Given the description of an element on the screen output the (x, y) to click on. 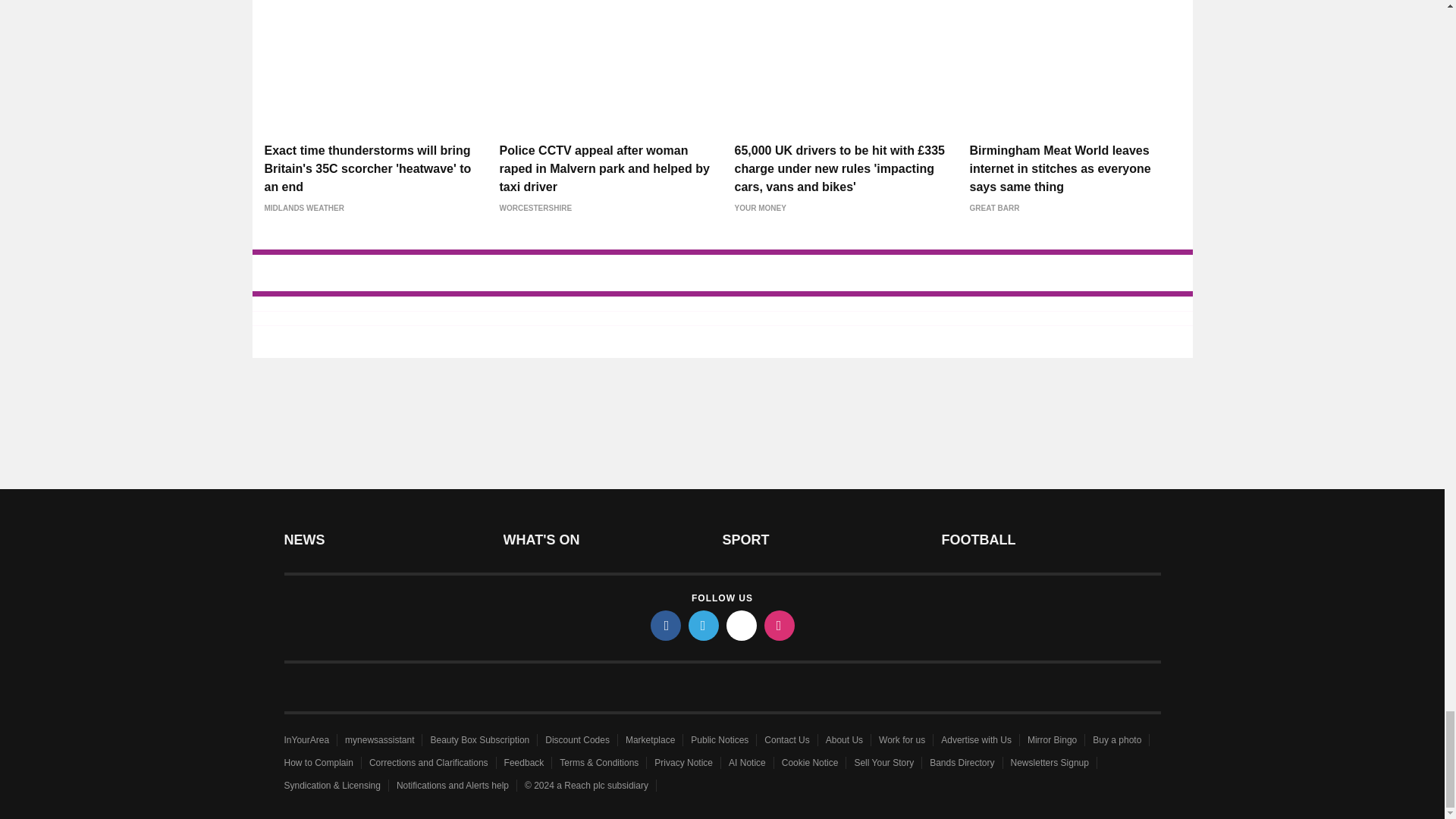
tiktok (741, 625)
instagram (779, 625)
twitter (703, 625)
facebook (665, 625)
